Given the description of an element on the screen output the (x, y) to click on. 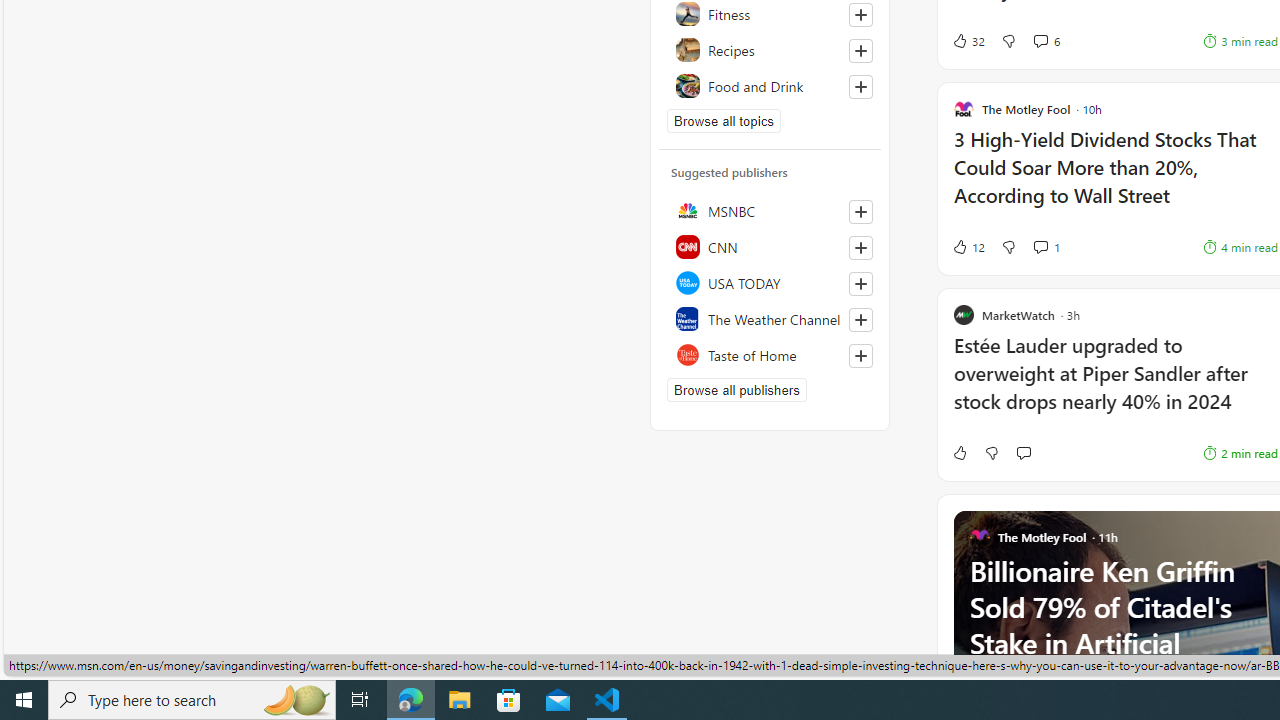
CNN (770, 246)
Dislike (991, 452)
The Weather Channel (770, 318)
Food and Drink (770, 85)
View comments 1 Comment (1045, 246)
Follow this topic (860, 86)
32 Like (968, 40)
Follow this source (860, 355)
View comments 6 Comment (1045, 40)
MSNBC (770, 210)
Browse all topics (724, 120)
Start the conversation (1023, 452)
USA TODAY (770, 282)
